Given the description of an element on the screen output the (x, y) to click on. 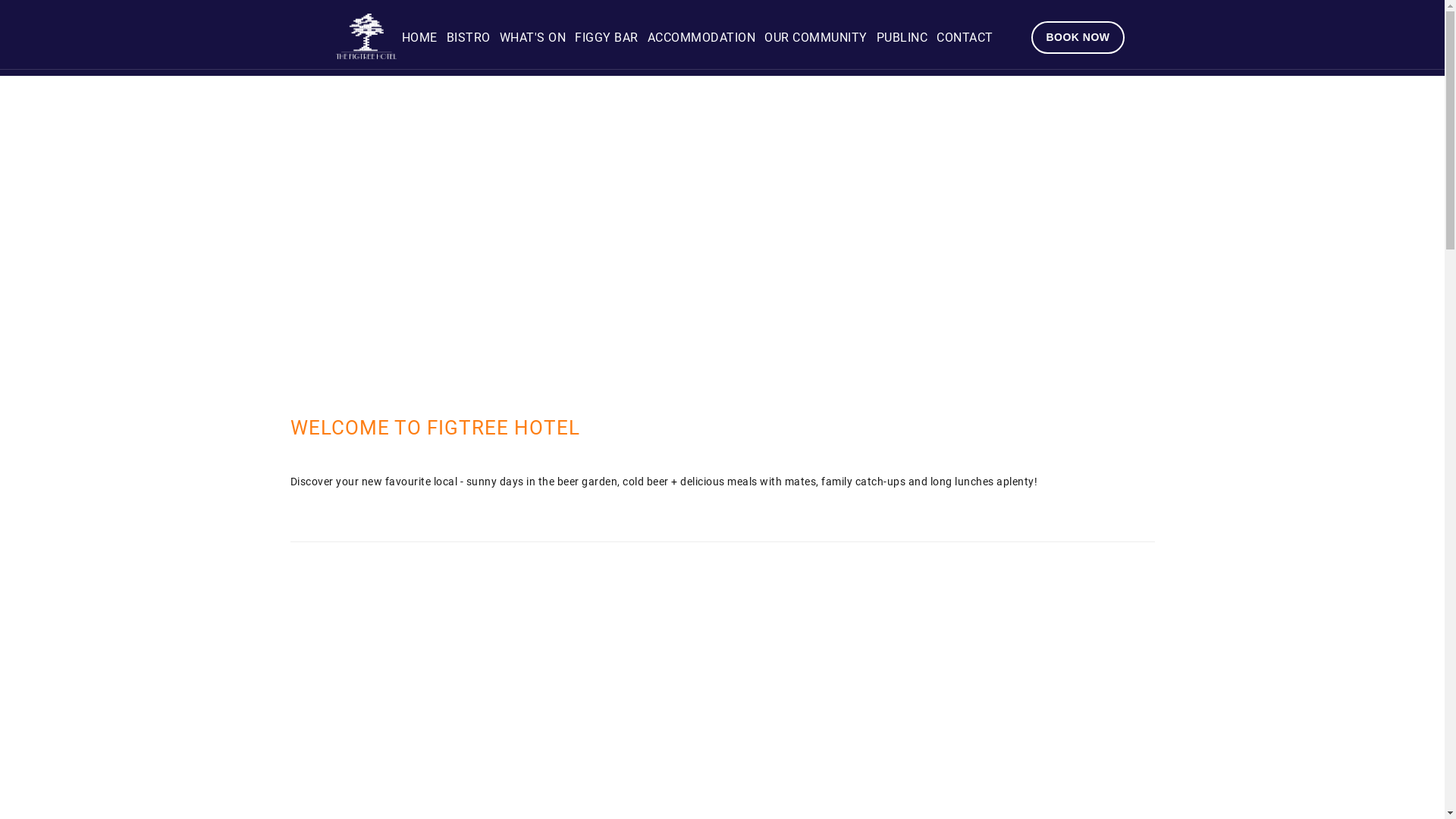
CONTACT Element type: text (964, 37)
PUBLINC Element type: text (901, 37)
FIGGY BAR Element type: text (606, 37)
OUR COMMUNITY Element type: text (815, 37)
BISTRO Element type: text (468, 37)
WHAT'S ON Element type: text (532, 37)
ACCOMMODATION Element type: text (701, 37)
BOOK NOW Element type: text (1077, 37)
HOME Element type: text (418, 37)
